Given the description of an element on the screen output the (x, y) to click on. 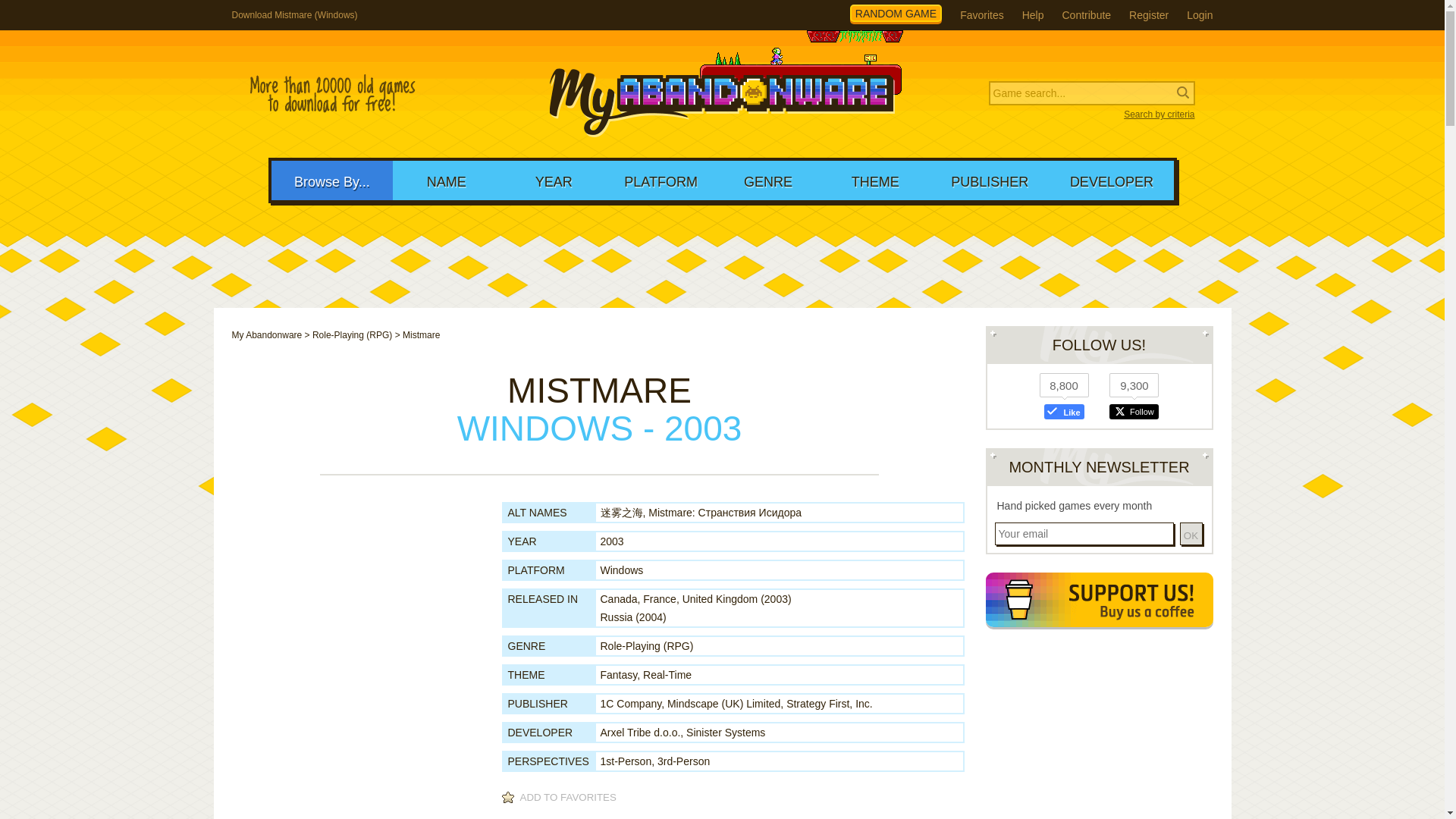
Browse your Favorite Games (981, 14)
search (98, 12)
MyAbandonware (722, 94)
Browse games of this genre (646, 645)
YEAR (553, 179)
ADD TO FAVORITES (561, 797)
Help (1032, 14)
GENRE (767, 179)
Browse games of this theme (618, 674)
My Abandonware (266, 335)
